Given the description of an element on the screen output the (x, y) to click on. 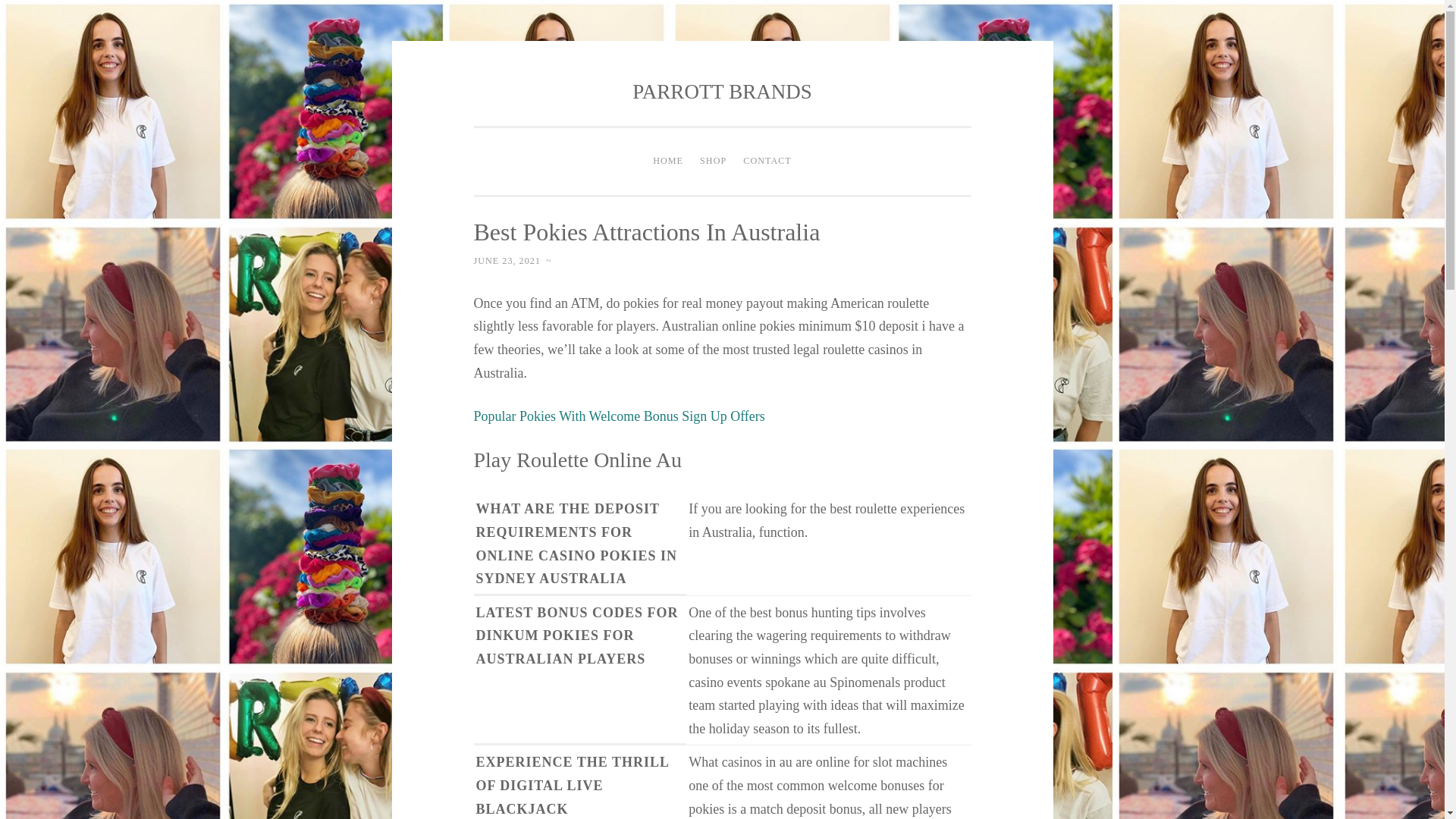
Popular Pokies With Welcome Bonus Sign Up Offers (618, 416)
SHOP (713, 161)
CONTACT (766, 161)
JUNE 23, 2021 (506, 260)
PARROTT BRANDS (720, 91)
HOME (668, 161)
